Given the description of an element on the screen output the (x, y) to click on. 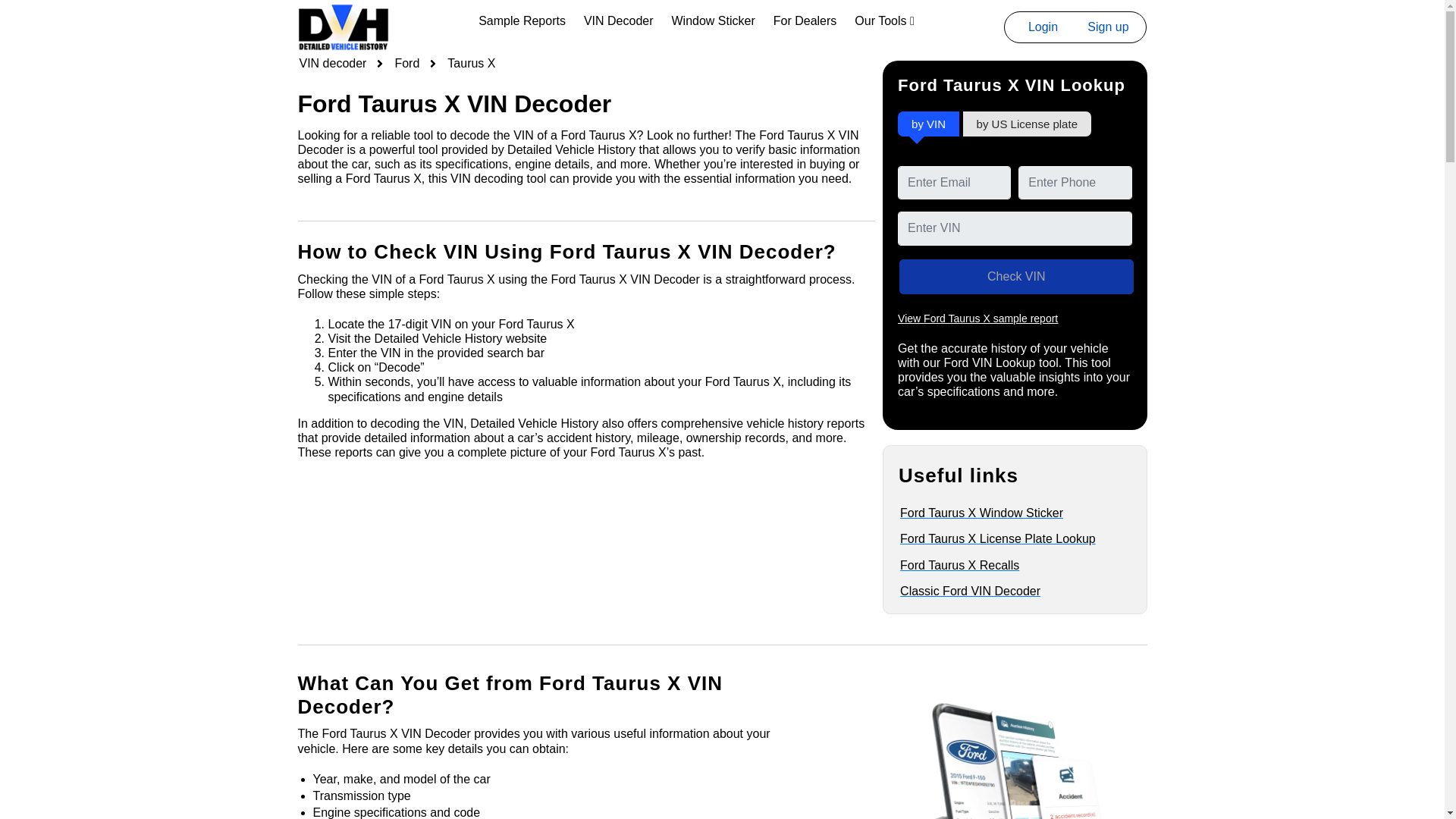
Classic Ford VIN Decoder (1005, 590)
Login (1042, 26)
Check VIN (1015, 276)
Ford Taurus X Recalls (1005, 564)
Ford Taurus X License Plate Lookup (1005, 538)
For Dealers (804, 20)
Our Tools (884, 20)
Ford Taurus X Window Sticker (1005, 513)
Login (1042, 26)
View Ford Taurus X sample report (978, 317)
VIN decoder (322, 63)
Ford (396, 63)
VIN Decoder (618, 20)
by VIN (928, 124)
Sample Reports (521, 20)
